Given the description of an element on the screen output the (x, y) to click on. 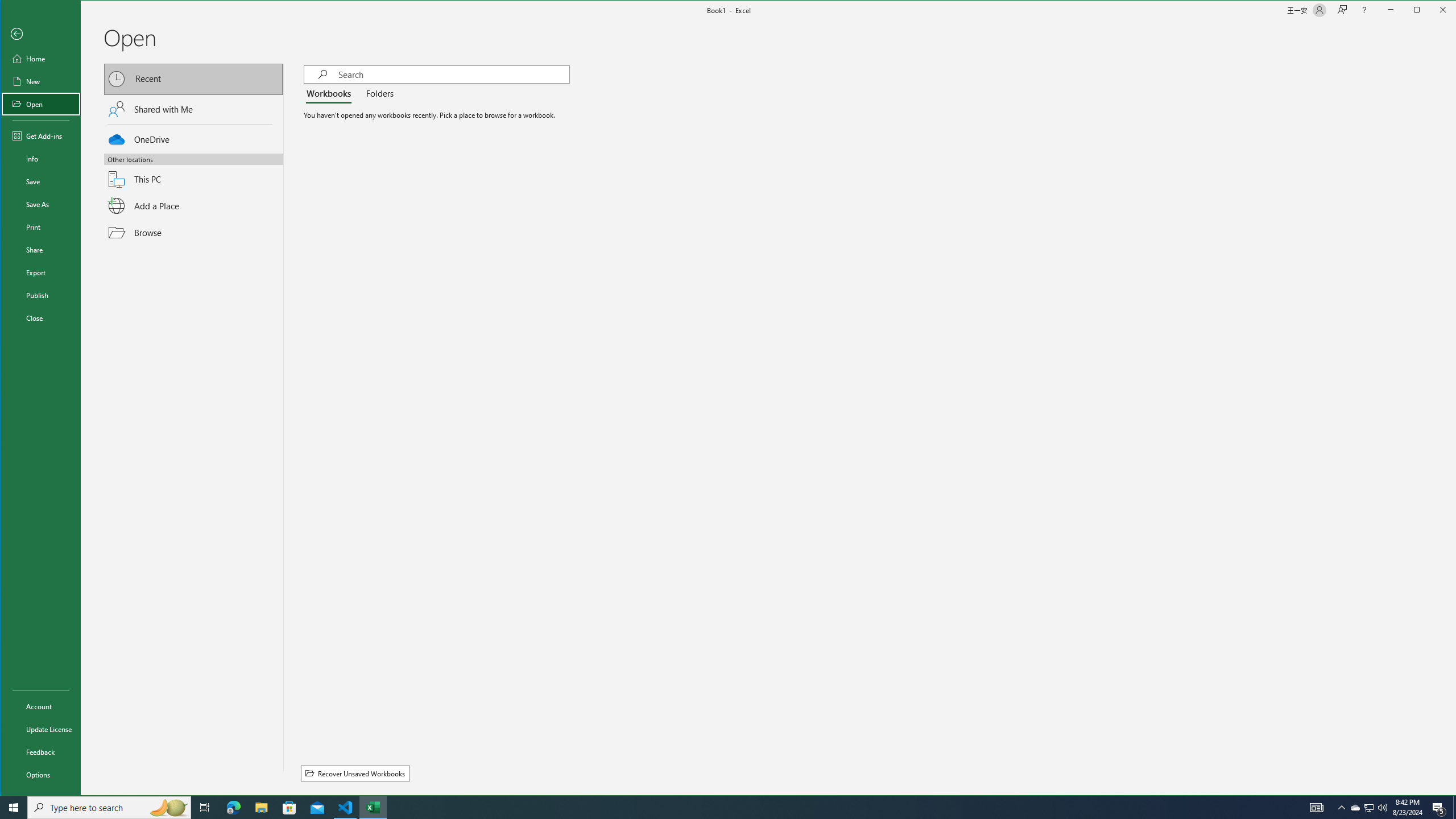
Update License (40, 728)
Get Add-ins (40, 135)
Q2790: 100% (1382, 807)
Recent (193, 79)
This PC (193, 172)
Start (13, 807)
Info (40, 158)
Task View (204, 807)
Maximize (1432, 11)
Action Center, 5 new notifications (1439, 807)
Back (40, 34)
